Given the description of an element on the screen output the (x, y) to click on. 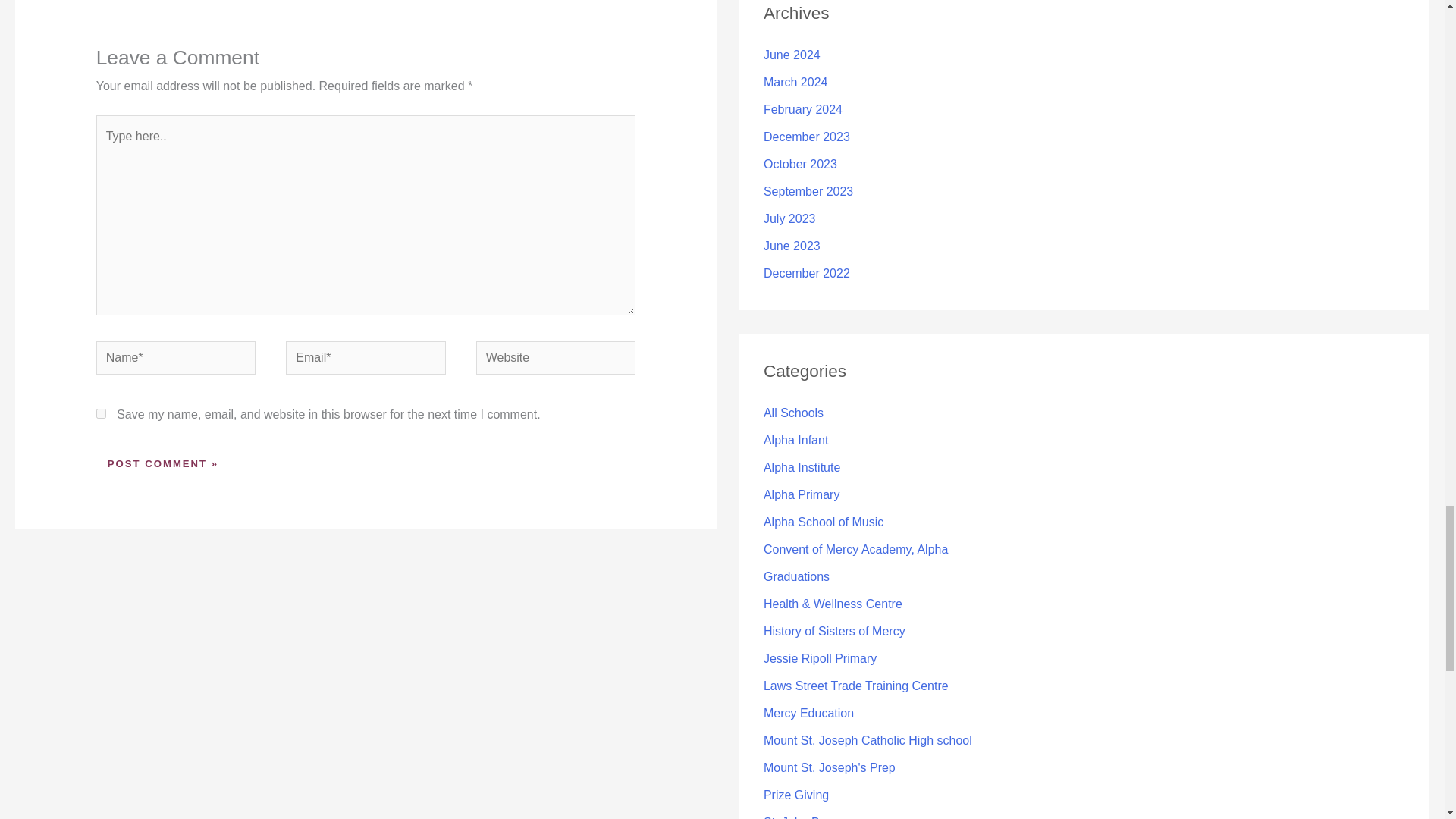
yes (101, 413)
